Given the description of an element on the screen output the (x, y) to click on. 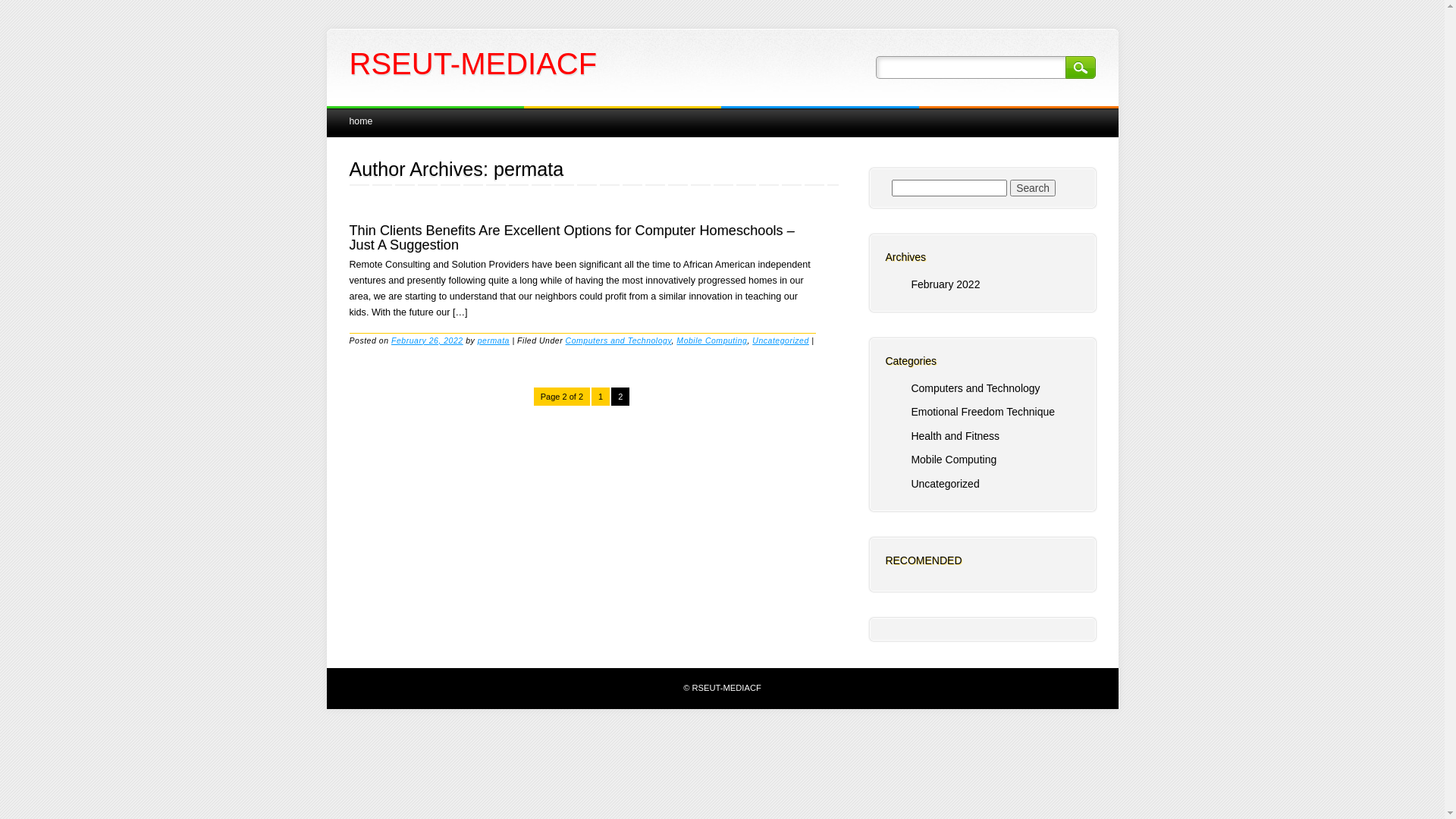
Computers and Technology Element type: text (618, 339)
Uncategorized Element type: text (944, 483)
February 26, 2022 Element type: text (427, 339)
Computers and Technology Element type: text (974, 388)
1 Element type: text (600, 396)
Skip to content Element type: text (361, 113)
Search Element type: text (1032, 187)
Health and Fitness Element type: text (954, 435)
Uncategorized Element type: text (780, 339)
Emotional Freedom Technique Element type: text (982, 411)
February 2022 Element type: text (944, 284)
Mobile Computing Element type: text (711, 339)
Mobile Computing Element type: text (953, 459)
home Element type: text (360, 121)
RSEUT-MEDIACF Element type: text (472, 63)
permata Element type: text (528, 168)
permata Element type: text (493, 339)
Search Element type: text (1079, 67)
